Given the description of an element on the screen output the (x, y) to click on. 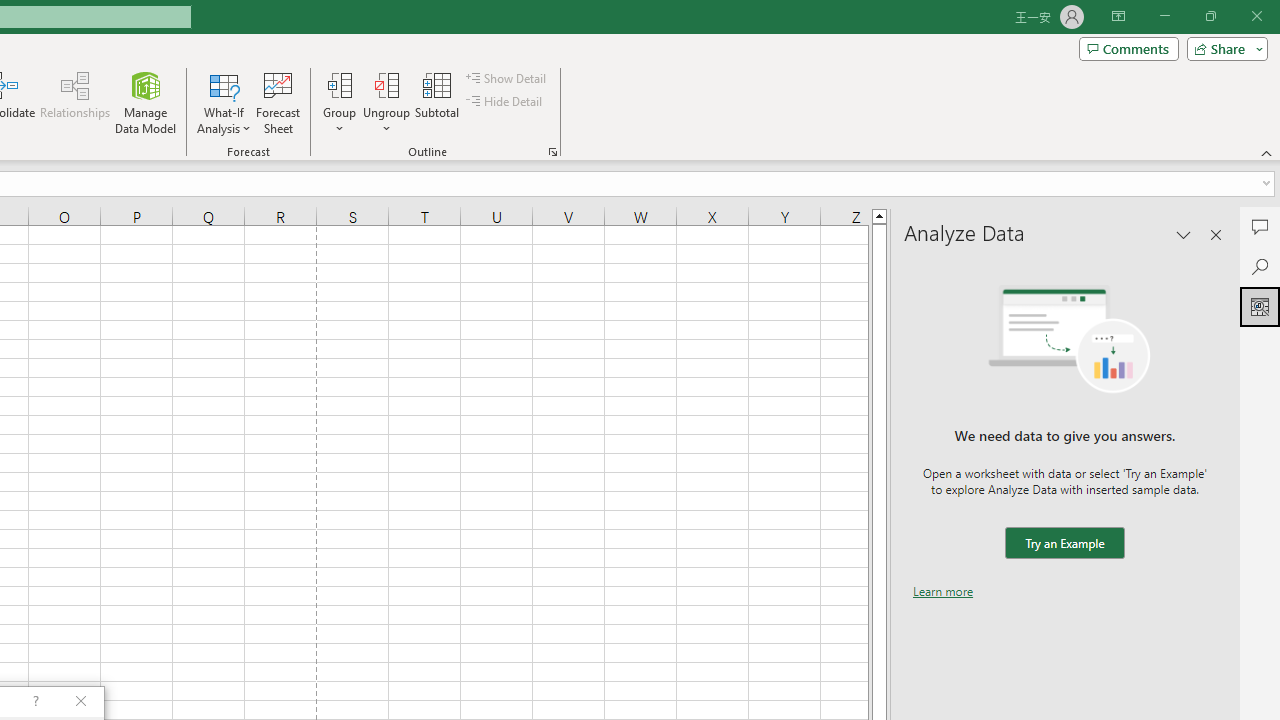
Learn more (943, 591)
